Given the description of an element on the screen output the (x, y) to click on. 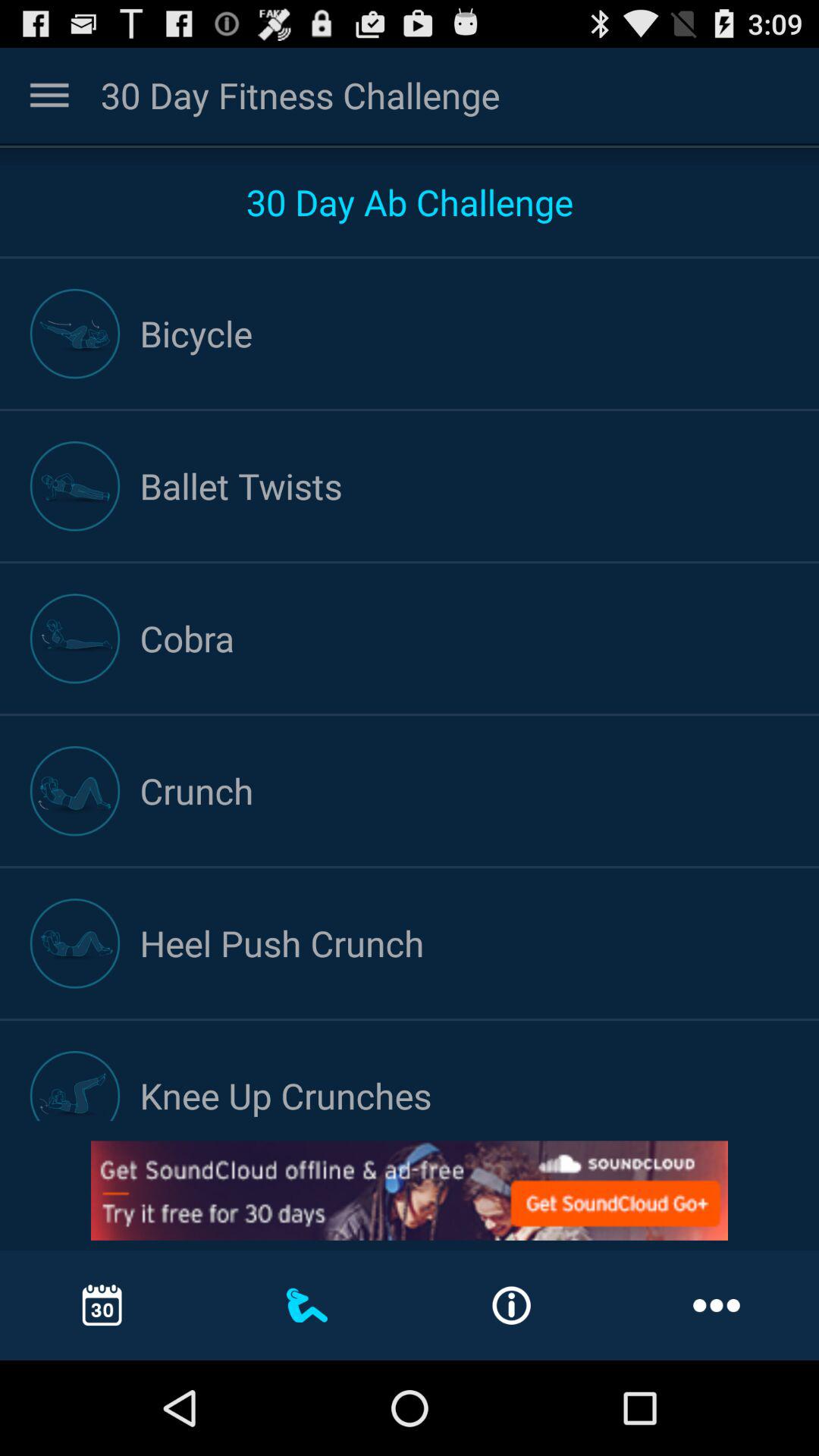
click on advertisement (409, 1190)
